Given the description of an element on the screen output the (x, y) to click on. 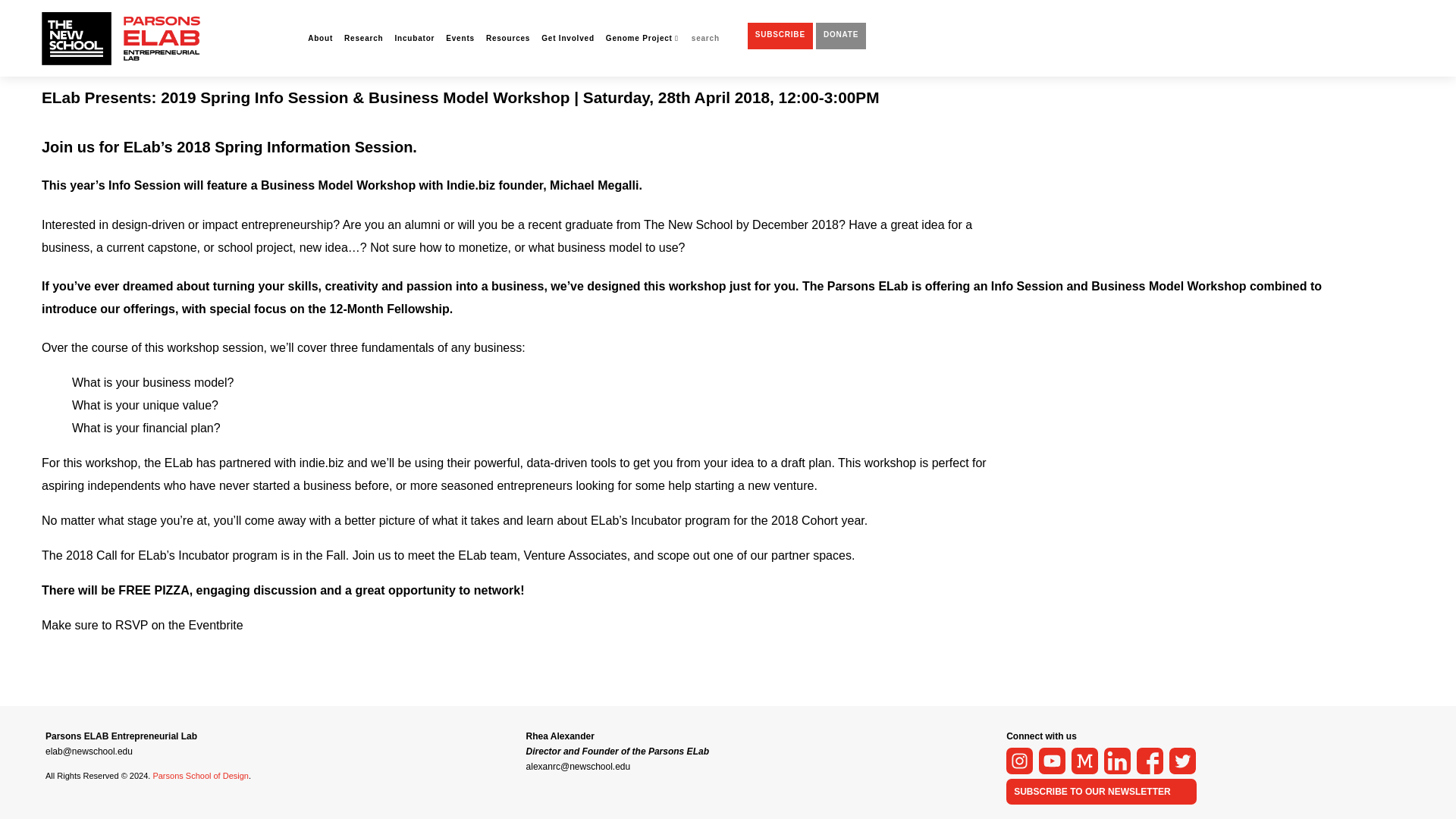
Resources (507, 15)
Incubator (414, 15)
indie.biz (321, 462)
SUBSCRIBE (780, 12)
DONATE (840, 12)
RSVP on the Eventbrite (179, 625)
Events (459, 15)
Genome Project (641, 15)
Research (362, 15)
About (320, 15)
Parsons School of Design (200, 775)
SUBSCRIBE TO OUR NEWSLETTER (1091, 791)
Get Involved (567, 15)
